Given the description of an element on the screen output the (x, y) to click on. 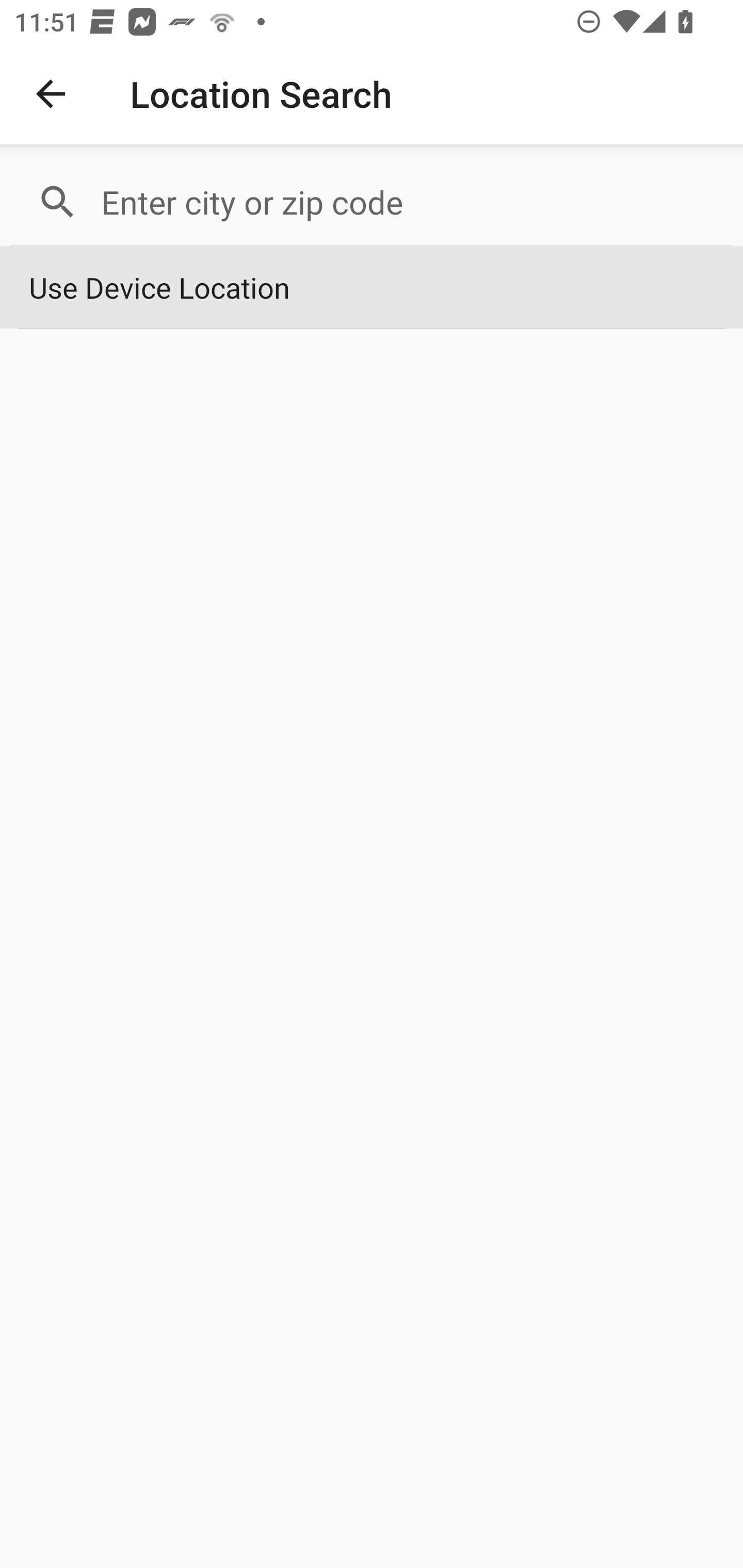
Navigate up (50, 93)
Enter city or zip code (407, 202)
Use Device Location (371, 287)
